Given the description of an element on the screen output the (x, y) to click on. 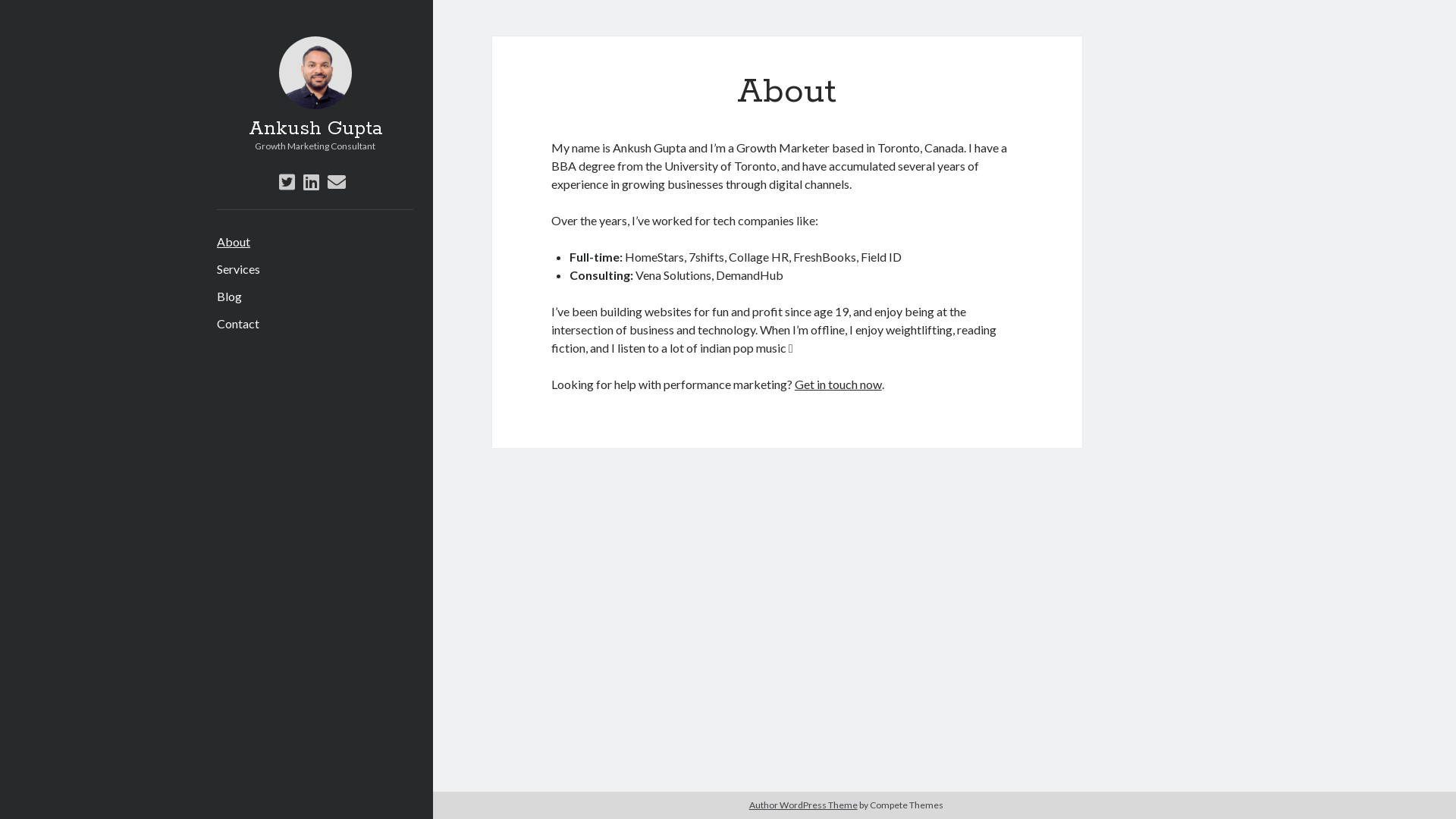
Blog Element type: text (228, 296)
About Element type: text (233, 241)
twitter Element type: text (286, 181)
linkedin Element type: text (311, 181)
email Element type: text (336, 181)
Services Element type: text (238, 269)
Get in touch now Element type: text (837, 383)
Author WordPress Theme Element type: text (803, 804)
Ankush Gupta Element type: text (315, 128)
Contact Element type: text (237, 323)
